Given the description of an element on the screen output the (x, y) to click on. 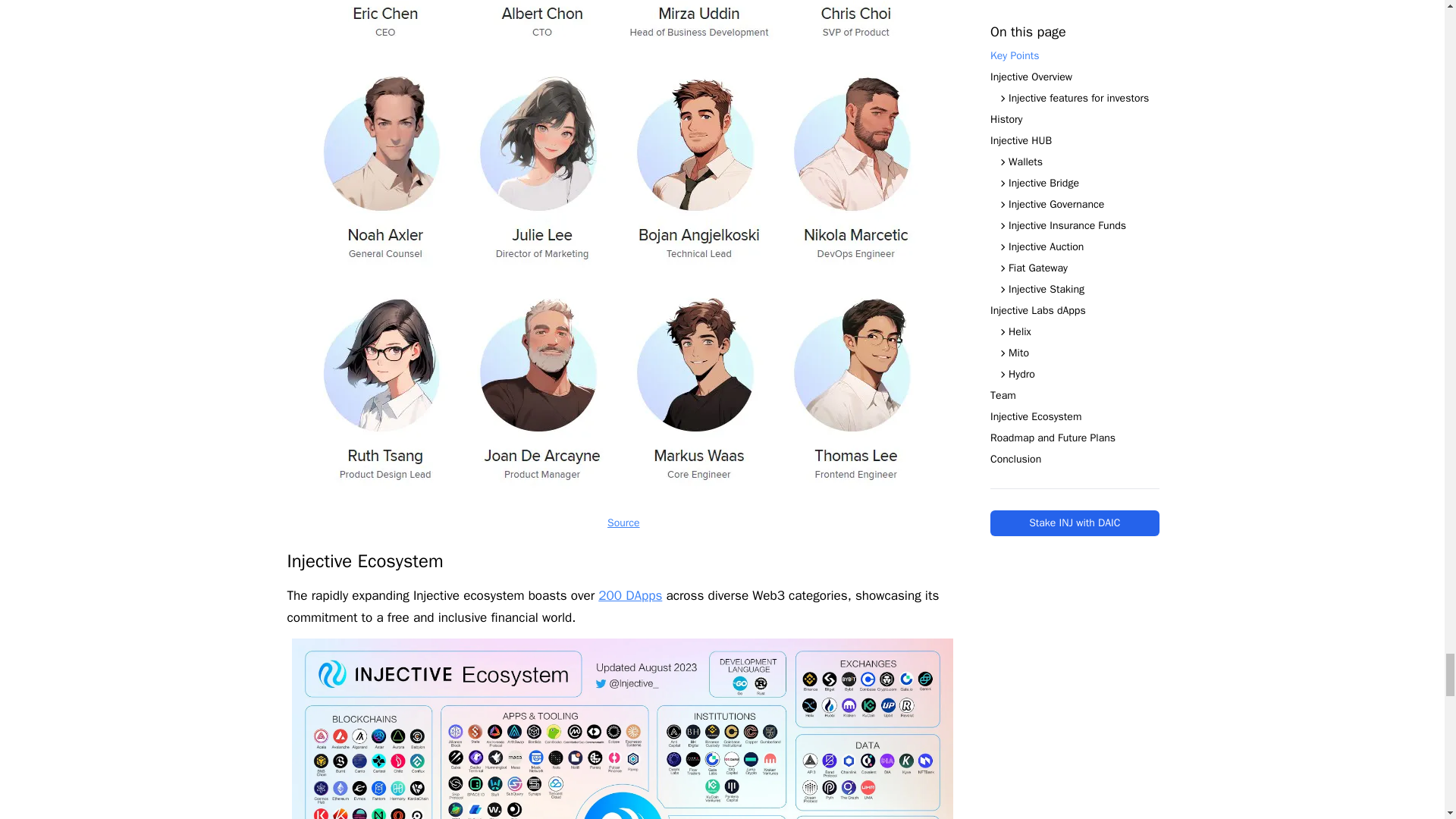
Source (623, 522)
